Given the description of an element on the screen output the (x, y) to click on. 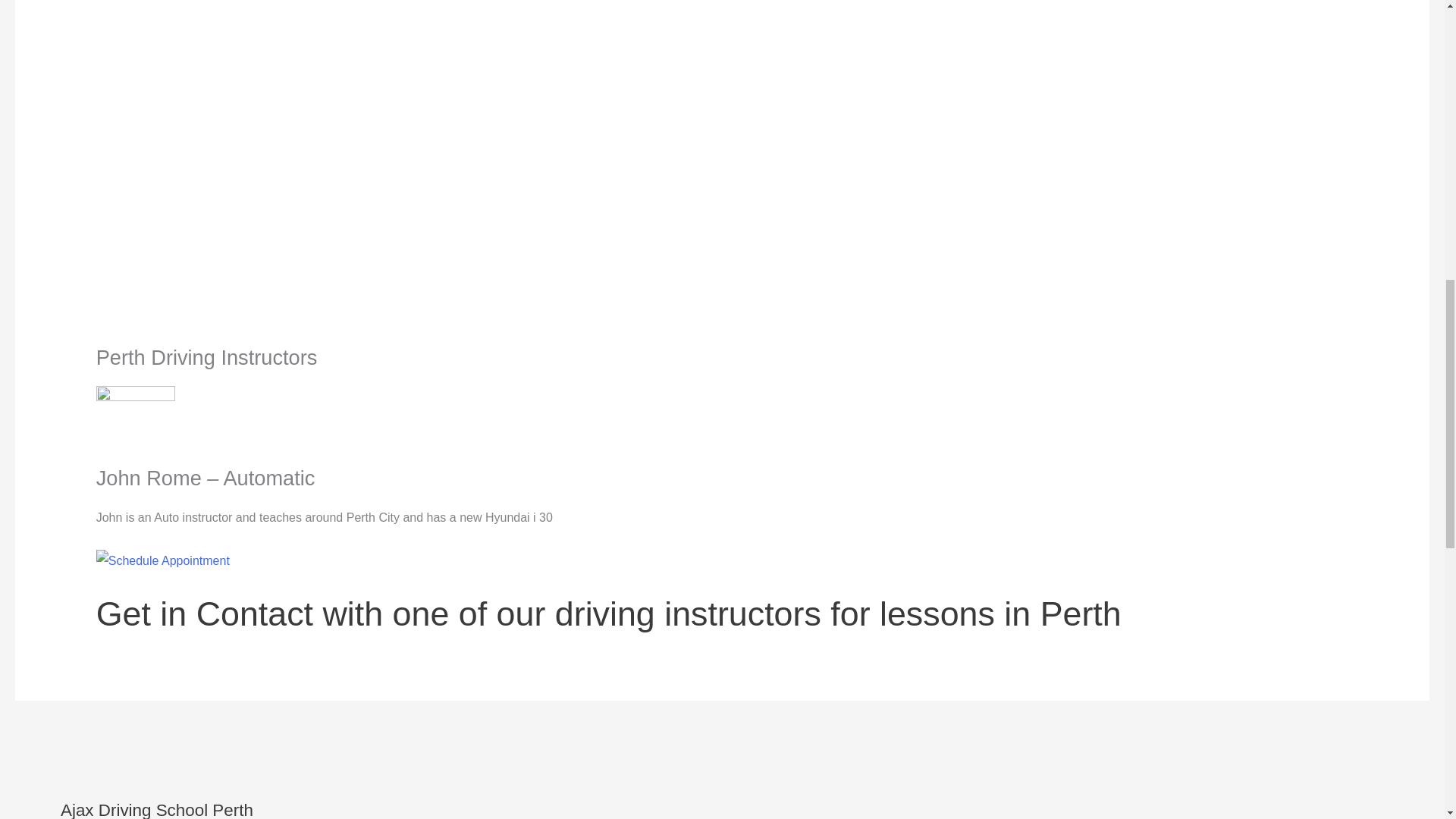
Schedule Appointment (163, 559)
